Given the description of an element on the screen output the (x, y) to click on. 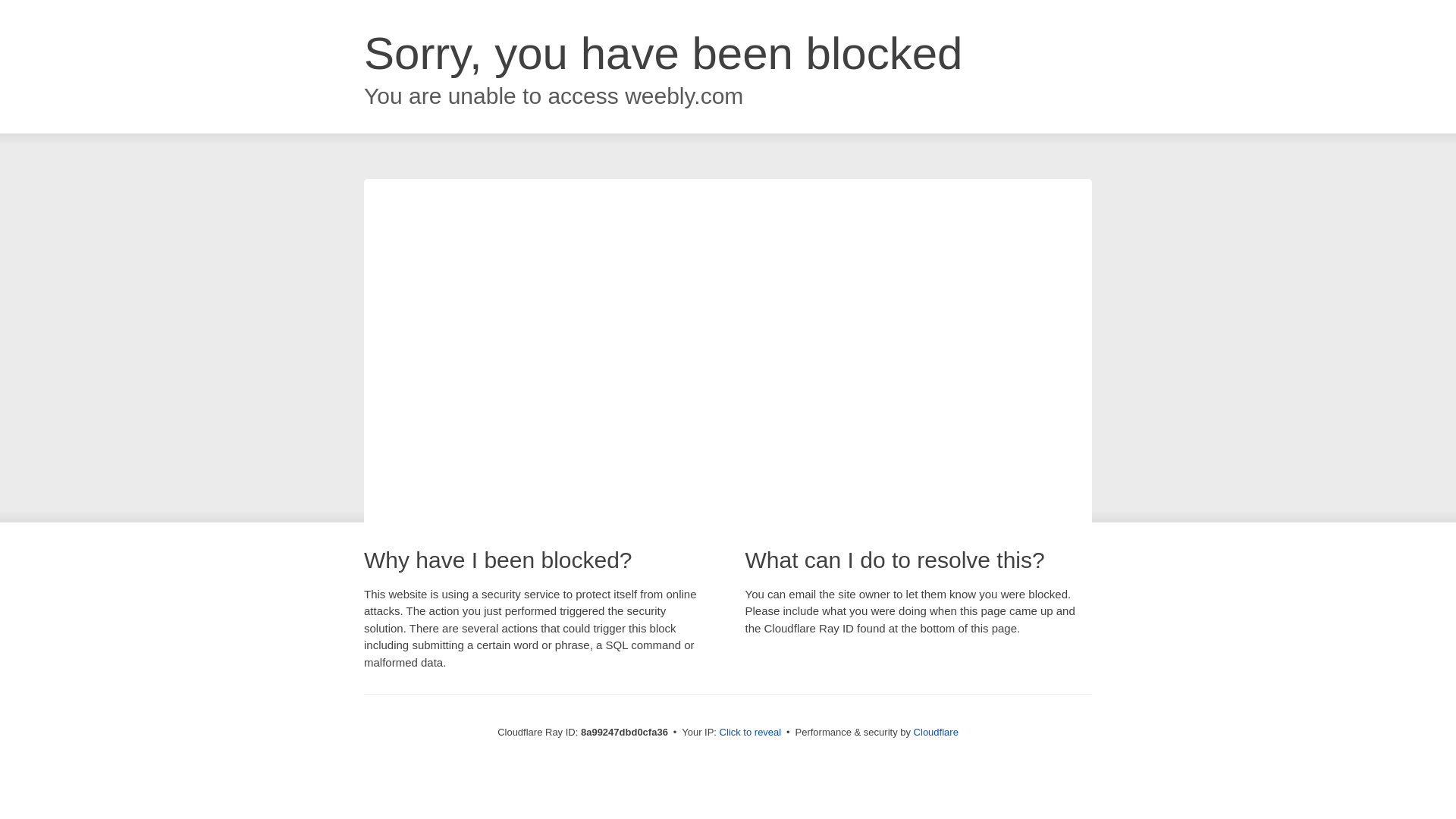
Click to reveal (750, 732)
Cloudflare (936, 731)
